Given the description of an element on the screen output the (x, y) to click on. 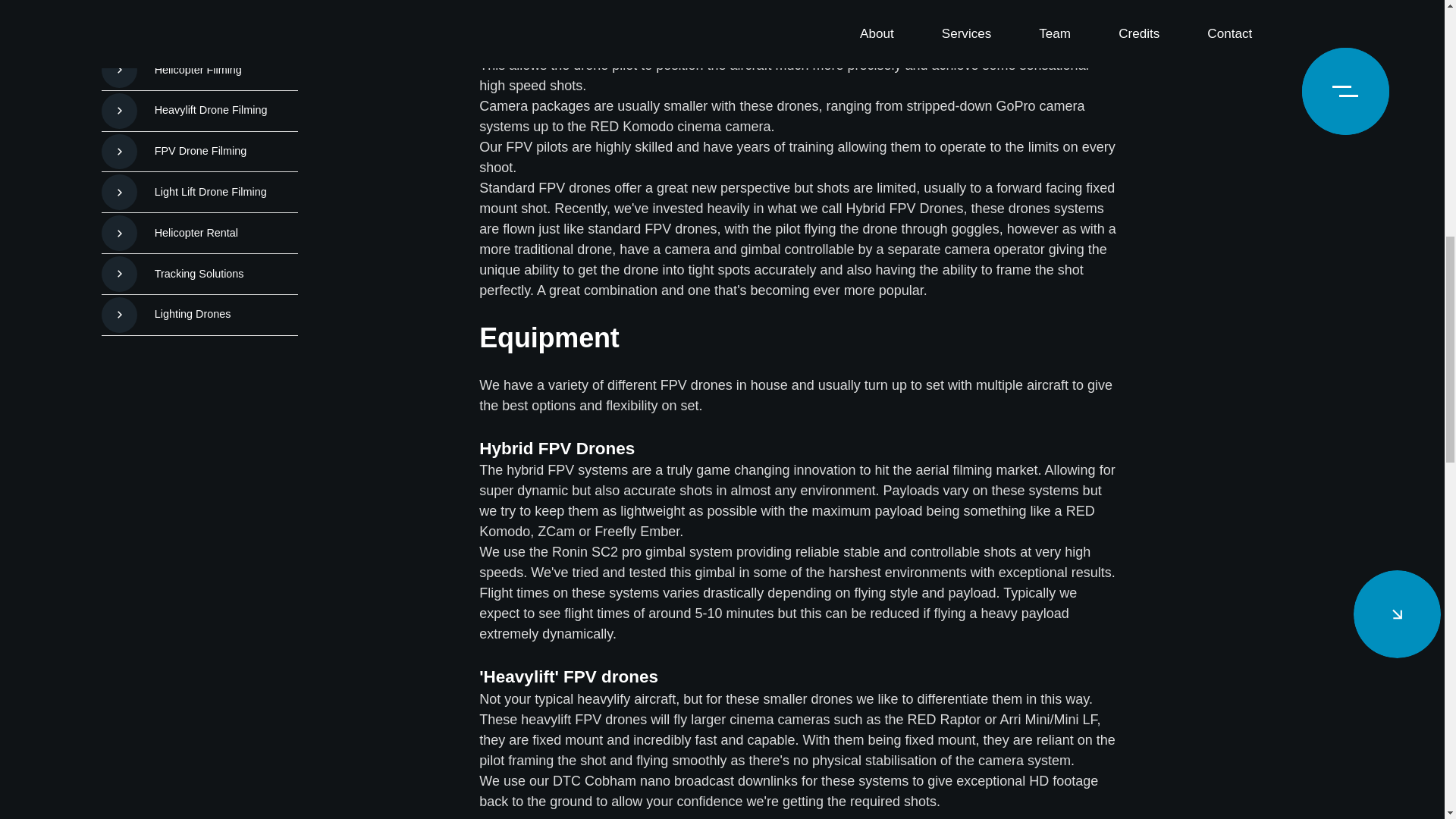
Lighting Drones (199, 180)
FPV Drone Filming (199, 18)
Light Lift Drone Filming (199, 58)
Tracking Solutions (199, 140)
Helicopter Rental (199, 99)
